Given the description of an element on the screen output the (x, y) to click on. 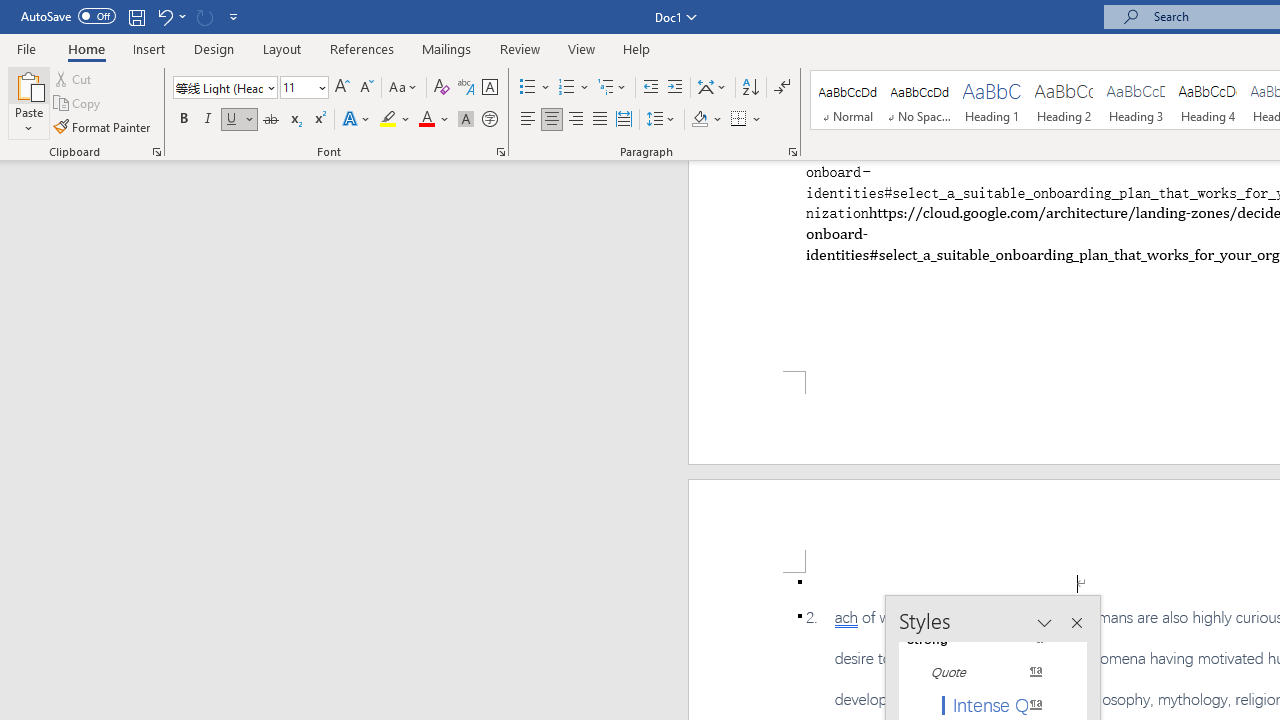
Heading 3 (1135, 100)
